Given the description of an element on the screen output the (x, y) to click on. 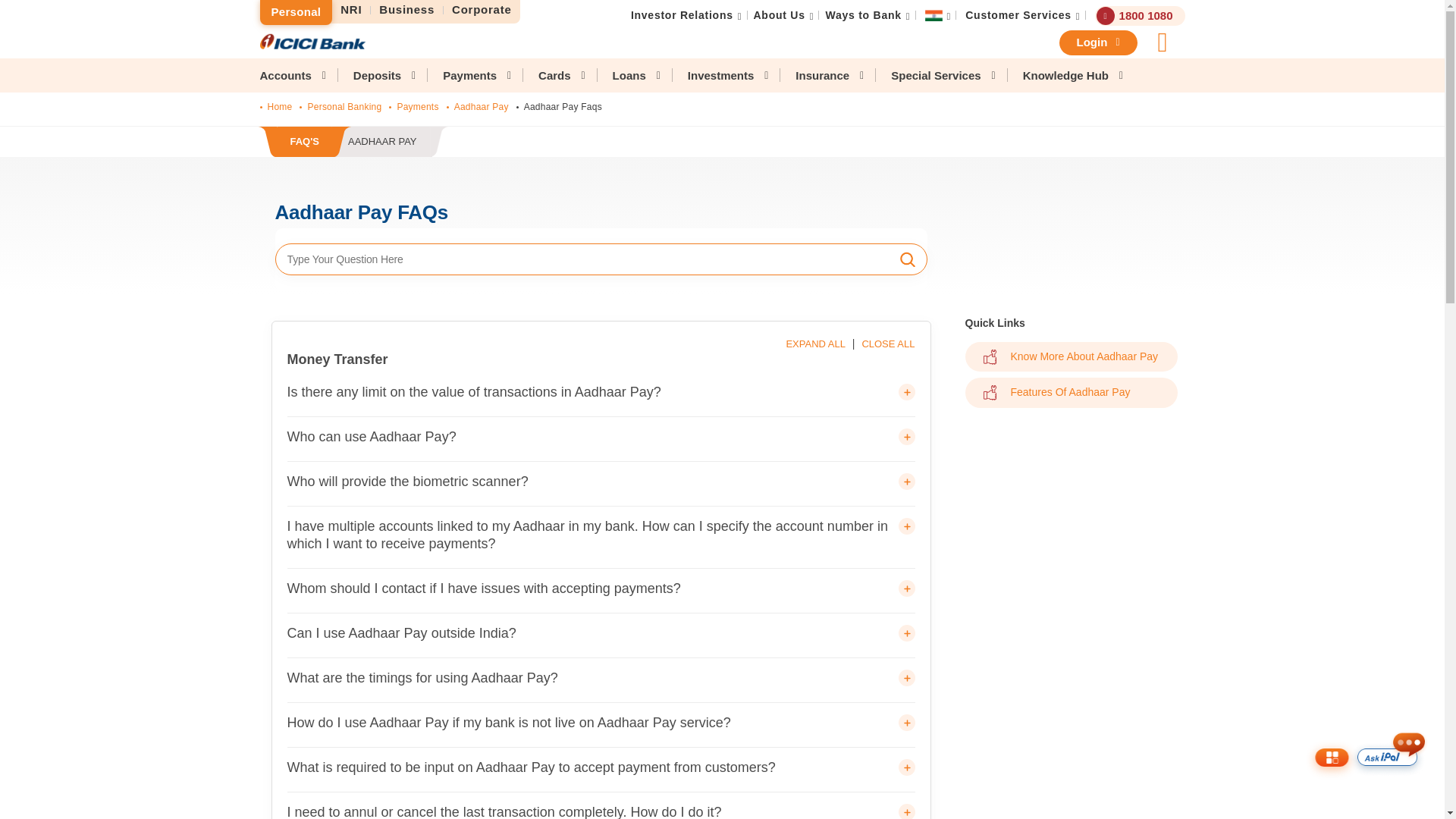
Customer Services (352, 142)
Corporate (1018, 15)
About Us (481, 9)
Business (779, 15)
Investor Relations (407, 9)
Personal (681, 15)
NRI (295, 12)
Ways to Bank (351, 9)
